Given the description of an element on the screen output the (x, y) to click on. 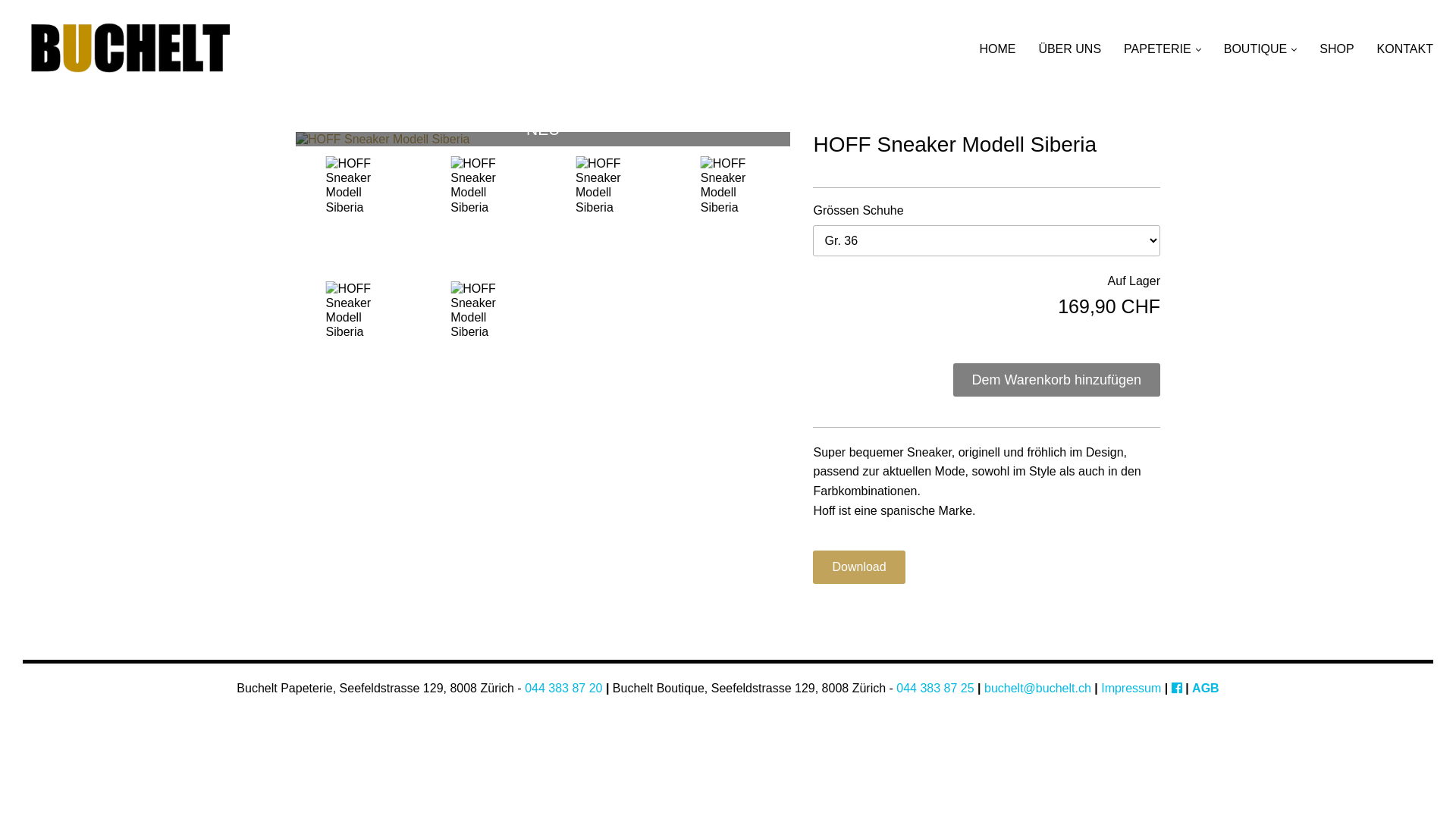
044 383 87 25 Element type: text (934, 687)
Impressum Element type: text (1131, 687)
AGB Element type: text (1205, 687)
SHOP Element type: text (1336, 48)
044 383 87 20 Element type: text (563, 687)
KONTAKT Element type: text (1405, 48)
Download Element type: text (858, 566)
NEU Element type: text (542, 138)
buchelt@buchelt.ch Element type: text (1037, 687)
BOUTIQUE Element type: text (1260, 48)
HOME Element type: text (997, 48)
PAPETERIE Element type: text (1162, 48)
